Given the description of an element on the screen output the (x, y) to click on. 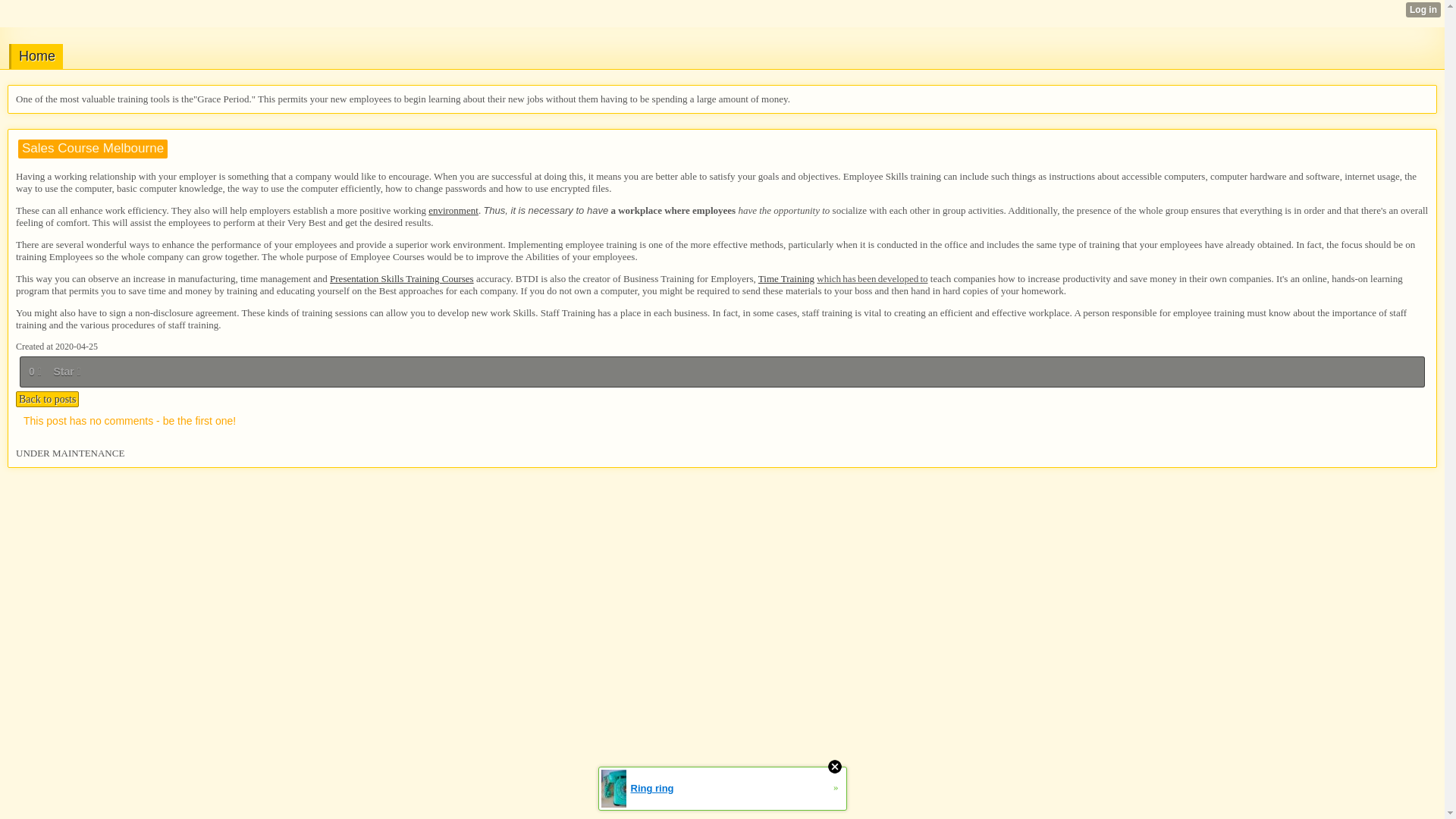
Star (66, 371)
environment (453, 210)
Home (35, 56)
Back to posts (47, 399)
Presentation Skills Training Courses (402, 278)
0 (34, 371)
Time Training (785, 278)
